Given the description of an element on the screen output the (x, y) to click on. 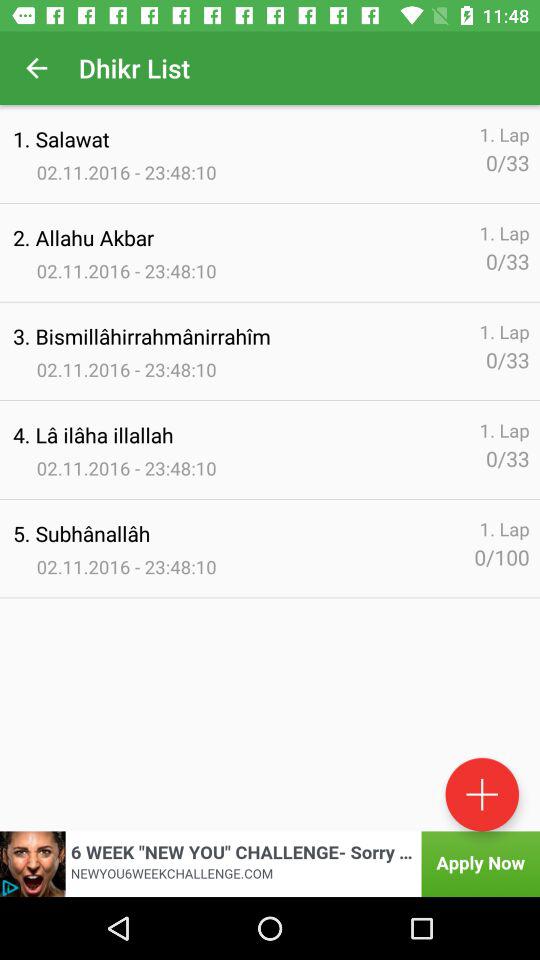
share the article (270, 864)
